Given the description of an element on the screen output the (x, y) to click on. 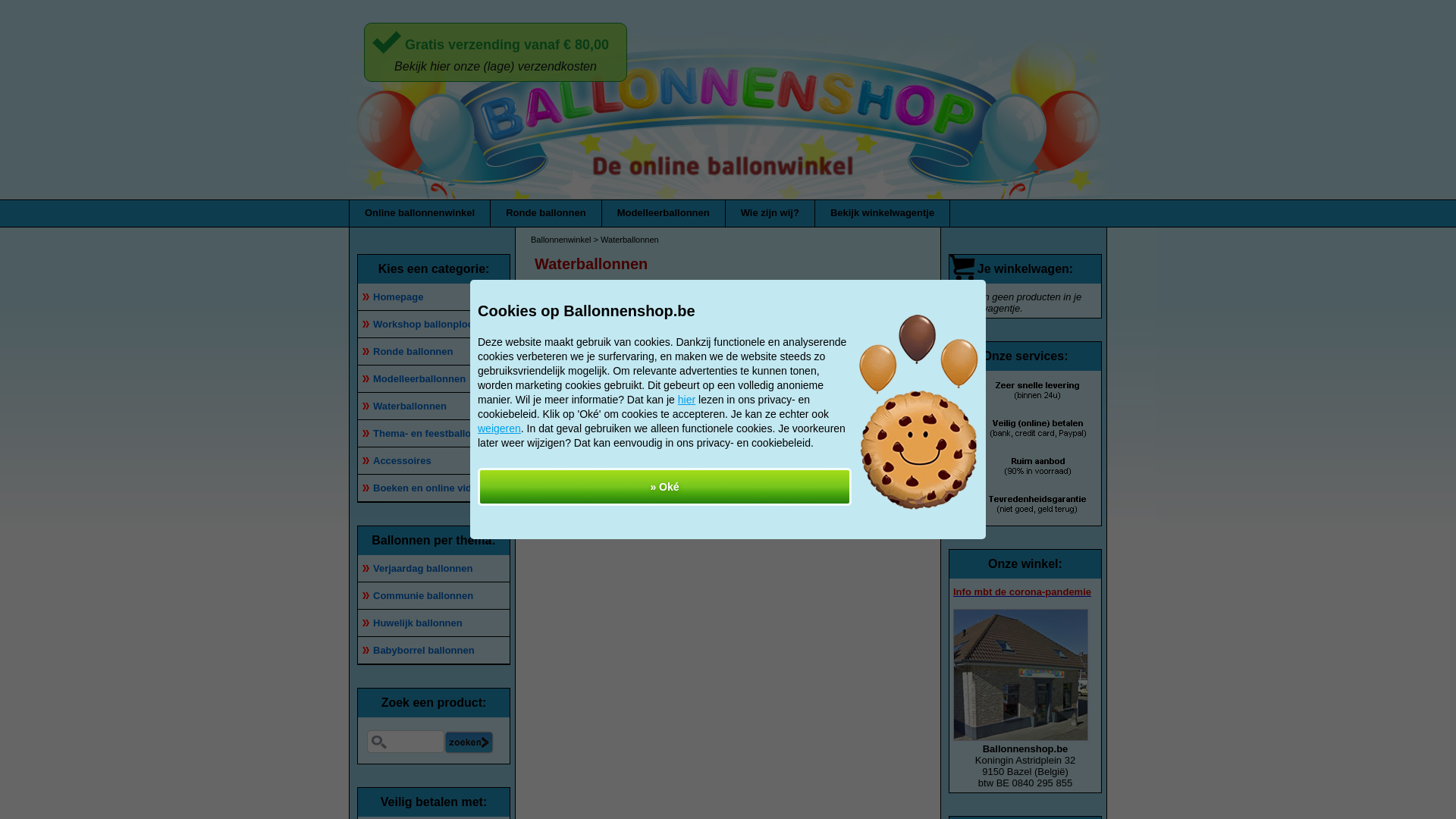
 In winkelwagen  Element type: text (779, 459)
Communie ballonnen Element type: text (433, 595)
Cookies op Ballonnenshop.be Element type: hover (918, 411)
Verjaardag ballonnen Element type: text (433, 568)
Ballonnenwinkel Element type: text (560, 239)
Accessoires Element type: text (433, 460)
Huwelijk ballonnen Element type: text (433, 623)
Klik hier voor een overzicht van onze services Element type: hover (1019, 448)
Boeken en online video's Element type: text (433, 488)
Waterballonnen Element type: text (433, 406)
Info mbt de corona-pandemie Element type: text (1022, 591)
Waterballonnen Element type: text (590, 263)
weigeren Element type: text (498, 428)
Ronde ballonnen Element type: text (433, 351)
Klik hier voor een overzicht van onze services Element type: hover (1019, 515)
Workshop ballonplooien Element type: text (433, 324)
Waterballonnen (120 stuks) Element type: text (626, 363)
Homepage Element type: text (433, 296)
Klik hier voor meer informatie over ons Element type: hover (1020, 737)
Modelleerballonnen Element type: text (433, 378)
Waterballonnen (120 stuks) Element type: hover (583, 442)
Thema- en feestballonnen Element type: text (433, 433)
Babyborrel ballonnen Element type: text (433, 650)
hier Element type: text (686, 399)
